Given the description of an element on the screen output the (x, y) to click on. 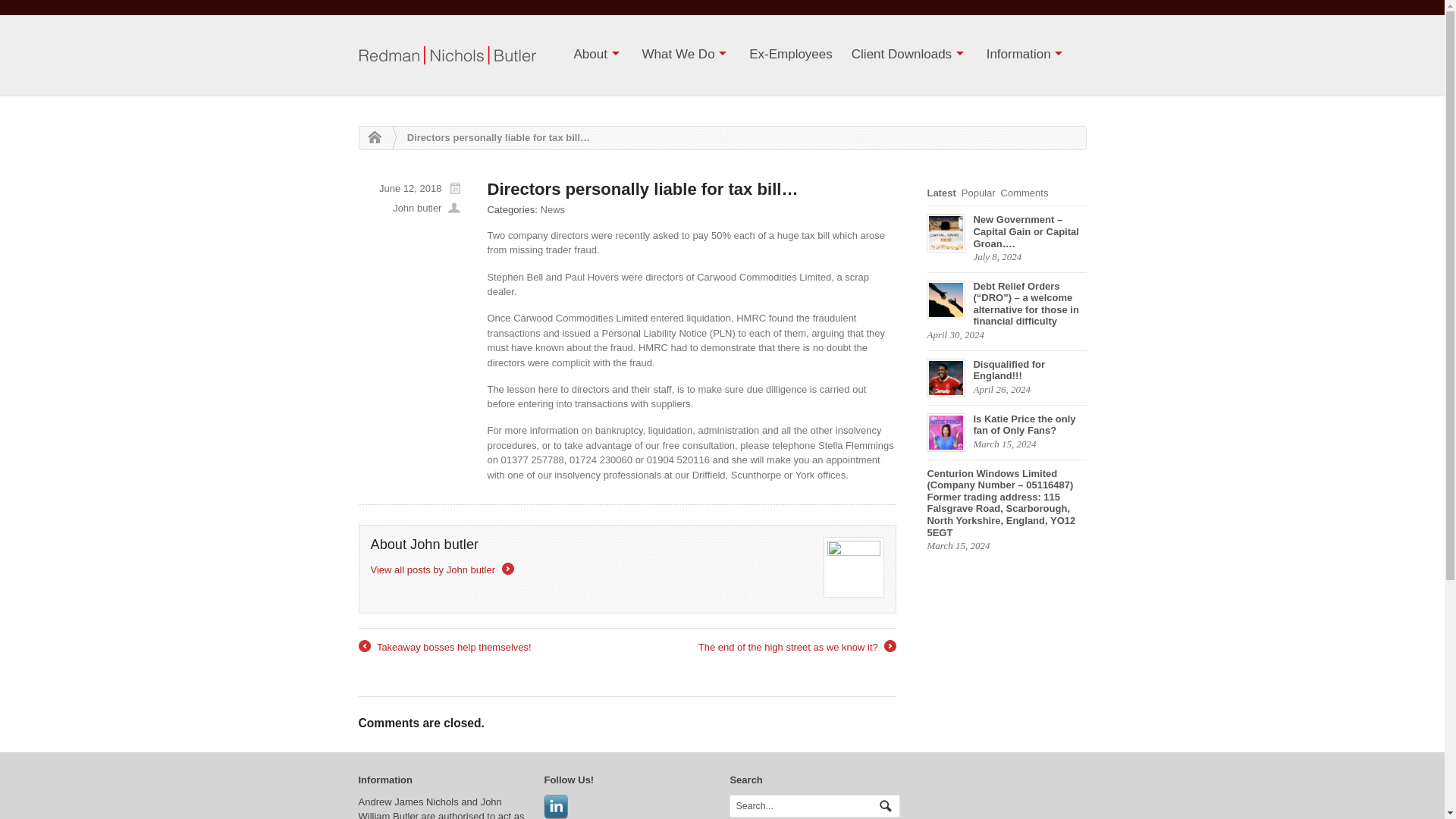
News (553, 209)
Redman Nichols Butler Insolvency Practitioners (370, 137)
Disqualified for England!!! (1006, 370)
Search... (806, 805)
Latest (943, 193)
Home (370, 137)
John butler (417, 207)
Ex-Employees (790, 54)
Popular (980, 193)
About (598, 54)
Posts by John butler (417, 207)
Is Katie Price the only fan of Only Fans? (1006, 424)
What We Do (686, 54)
Client Downloads (909, 54)
Information (1026, 54)
